Given the description of an element on the screen output the (x, y) to click on. 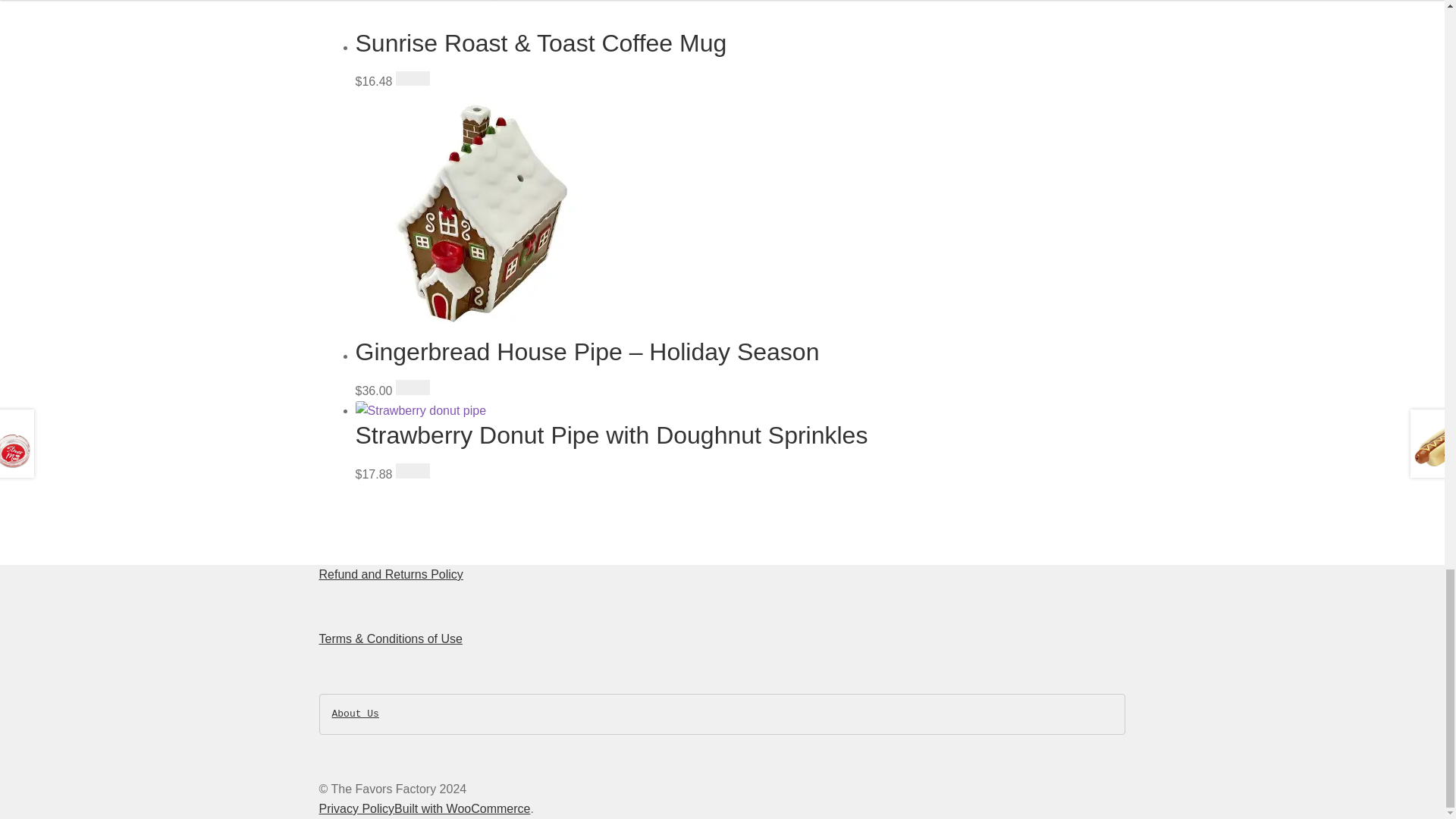
WooCommerce - The Best eCommerce Platform for WordPress (461, 808)
